Given the description of an element on the screen output the (x, y) to click on. 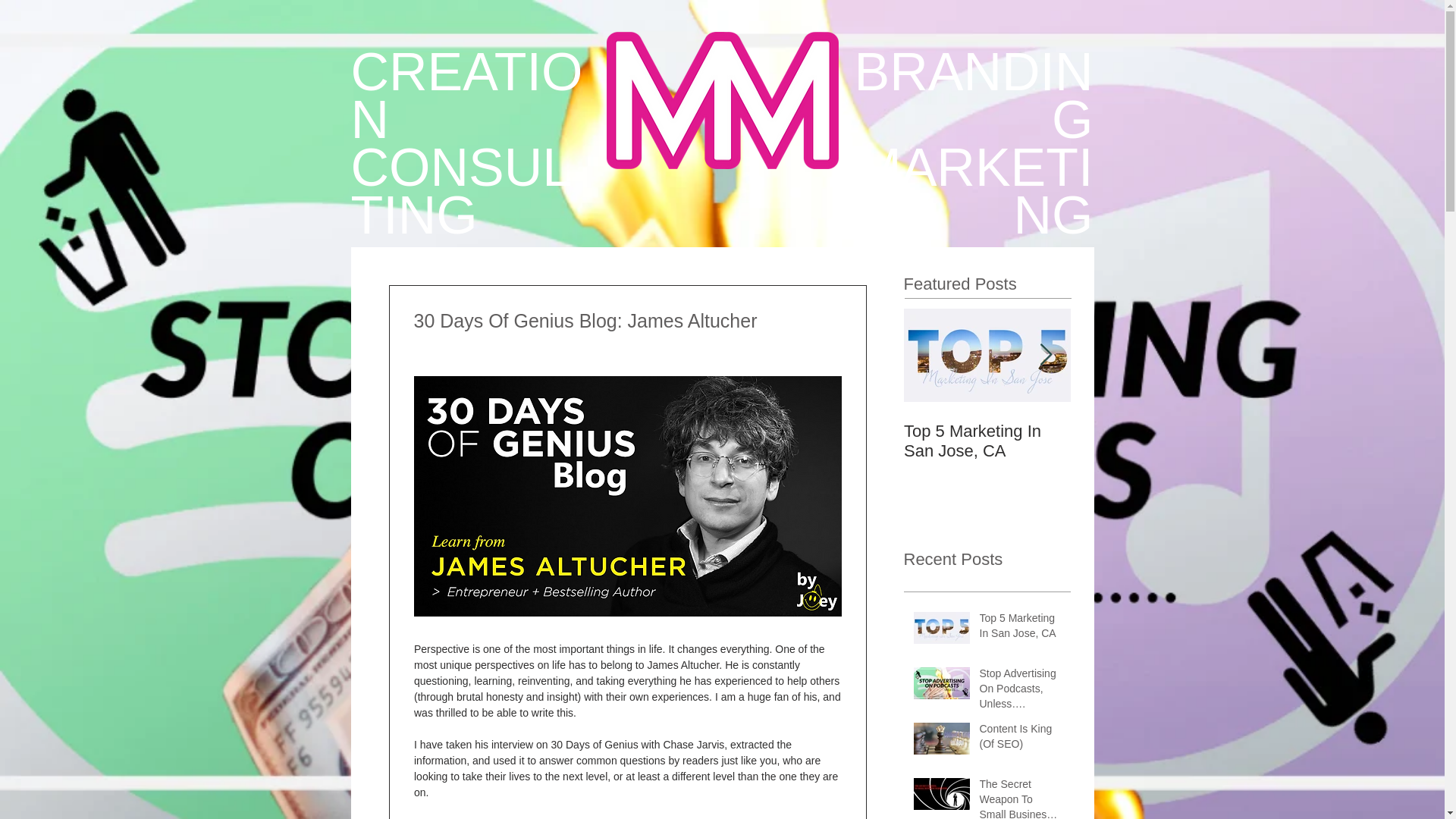
Top 5 Marketing In San Jose, CA (1020, 628)
The Secret Weapon To Small Business Marketing (1020, 798)
Top 5 Marketing In San Jose, CA (987, 441)
